Given the description of an element on the screen output the (x, y) to click on. 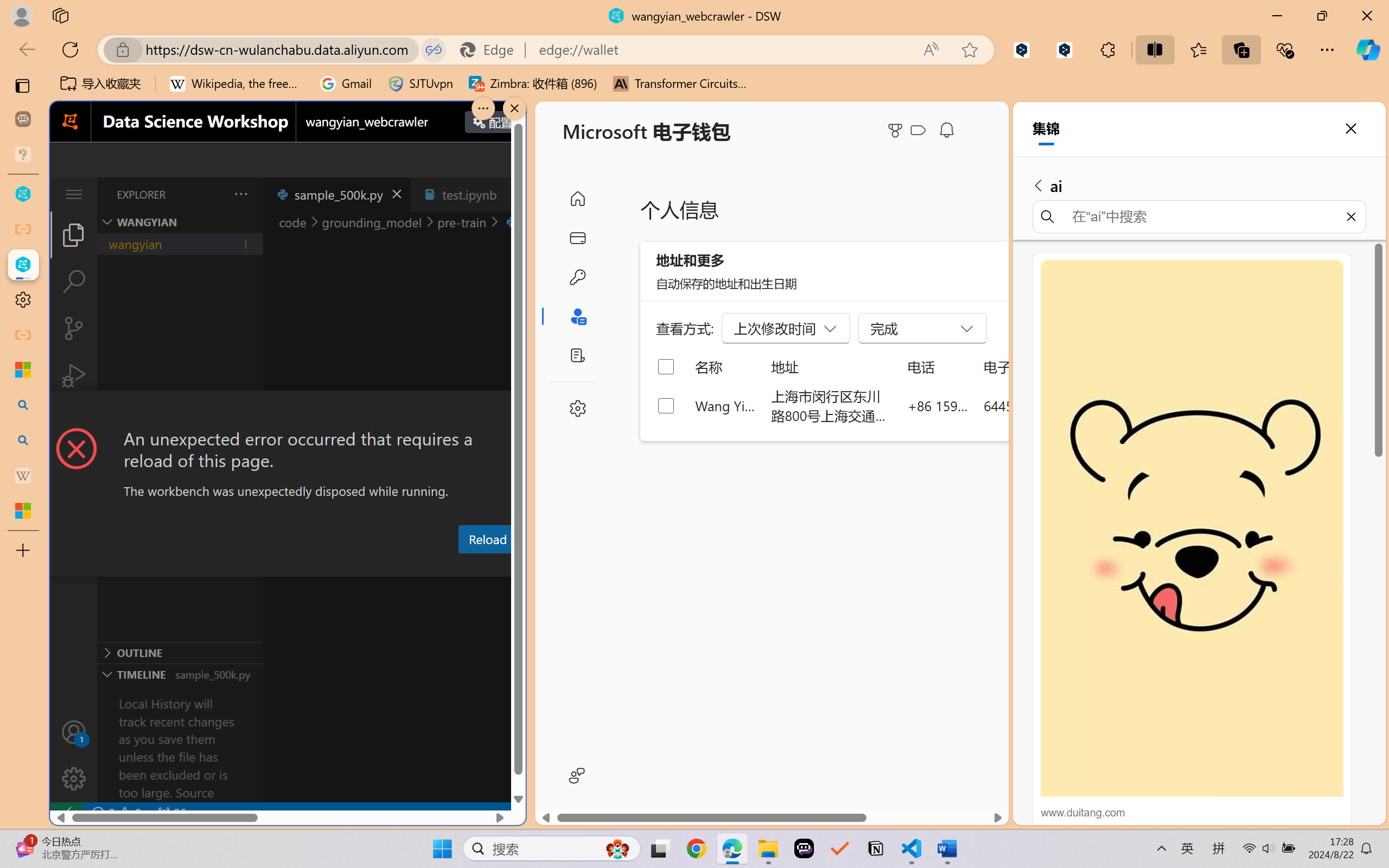
Source Control (Ctrl+Shift+G) (73, 328)
No Problems (115, 812)
Extensions (Ctrl+Shift+X) (73, 422)
Application Menu (73, 194)
Outline Section (179, 652)
Wang Yian (725, 405)
wangyian_webcrawler - DSW (22, 264)
